Given the description of an element on the screen output the (x, y) to click on. 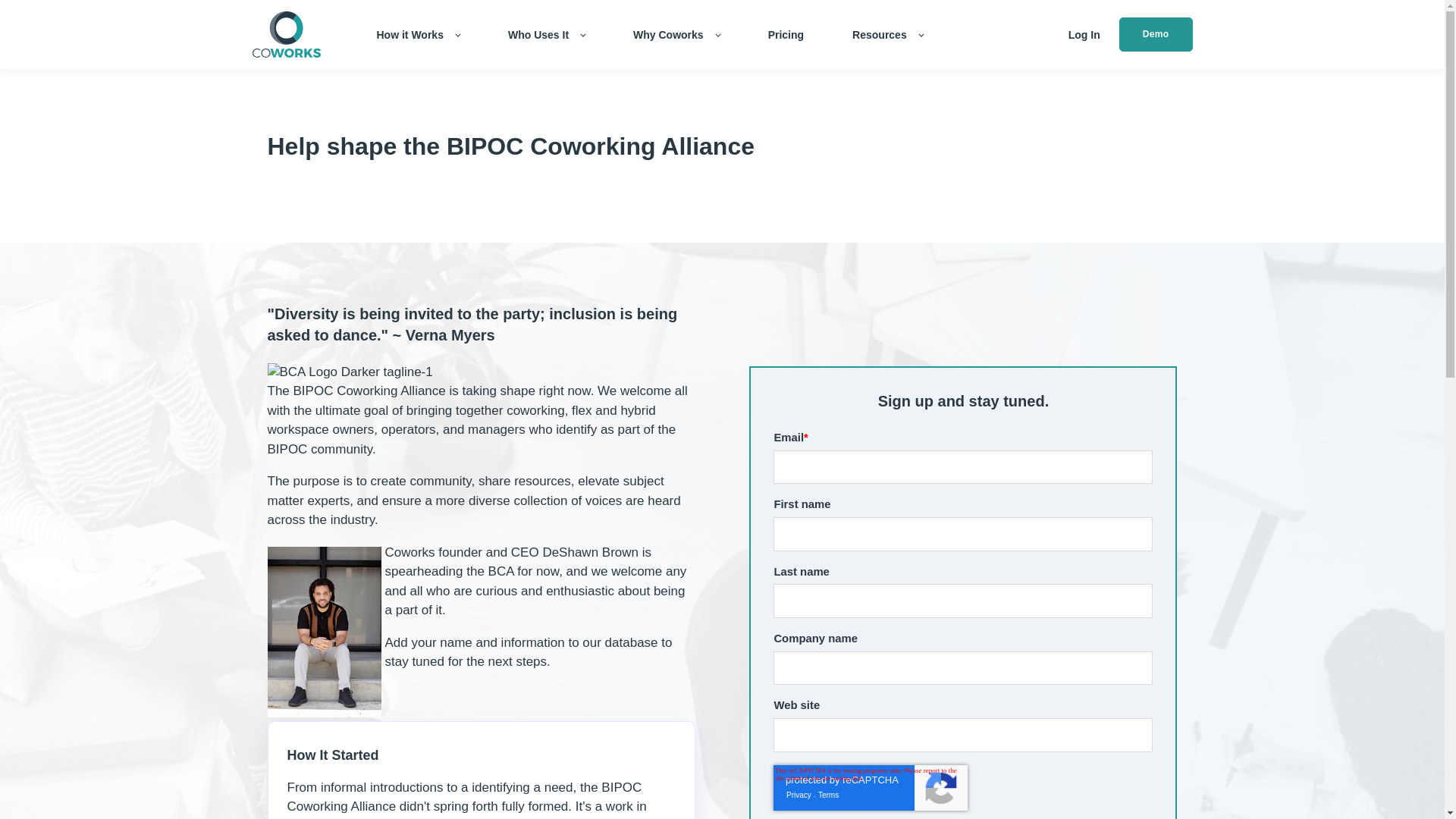
Demo (1155, 34)
Why Coworks (676, 34)
Resources (887, 34)
Who Uses It (546, 34)
Pricing (785, 34)
reCAPTCHA (870, 787)
How it Works (416, 34)
Log In (1084, 34)
